Given the description of an element on the screen output the (x, y) to click on. 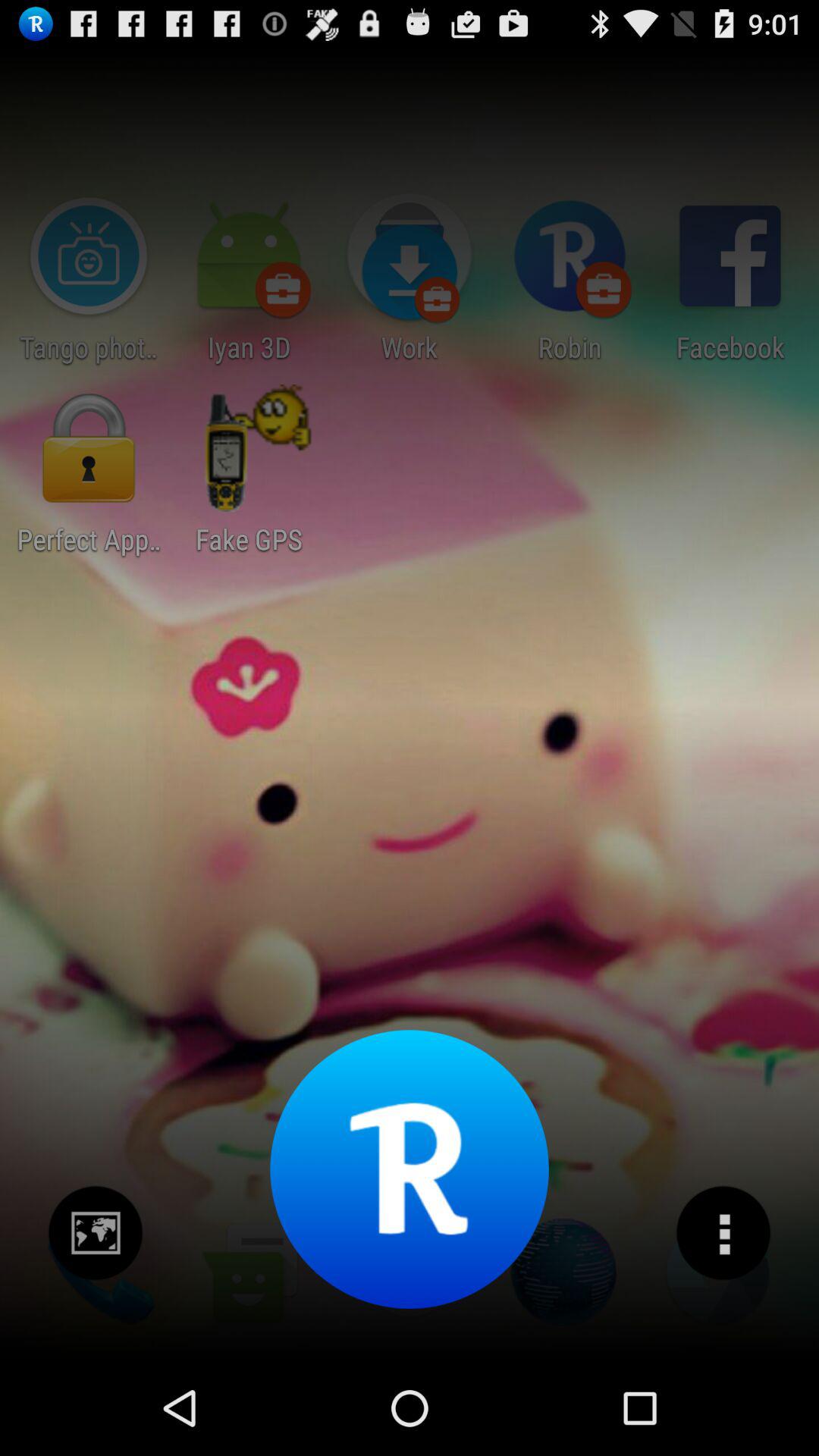
click to more details (723, 1232)
